Given the description of an element on the screen output the (x, y) to click on. 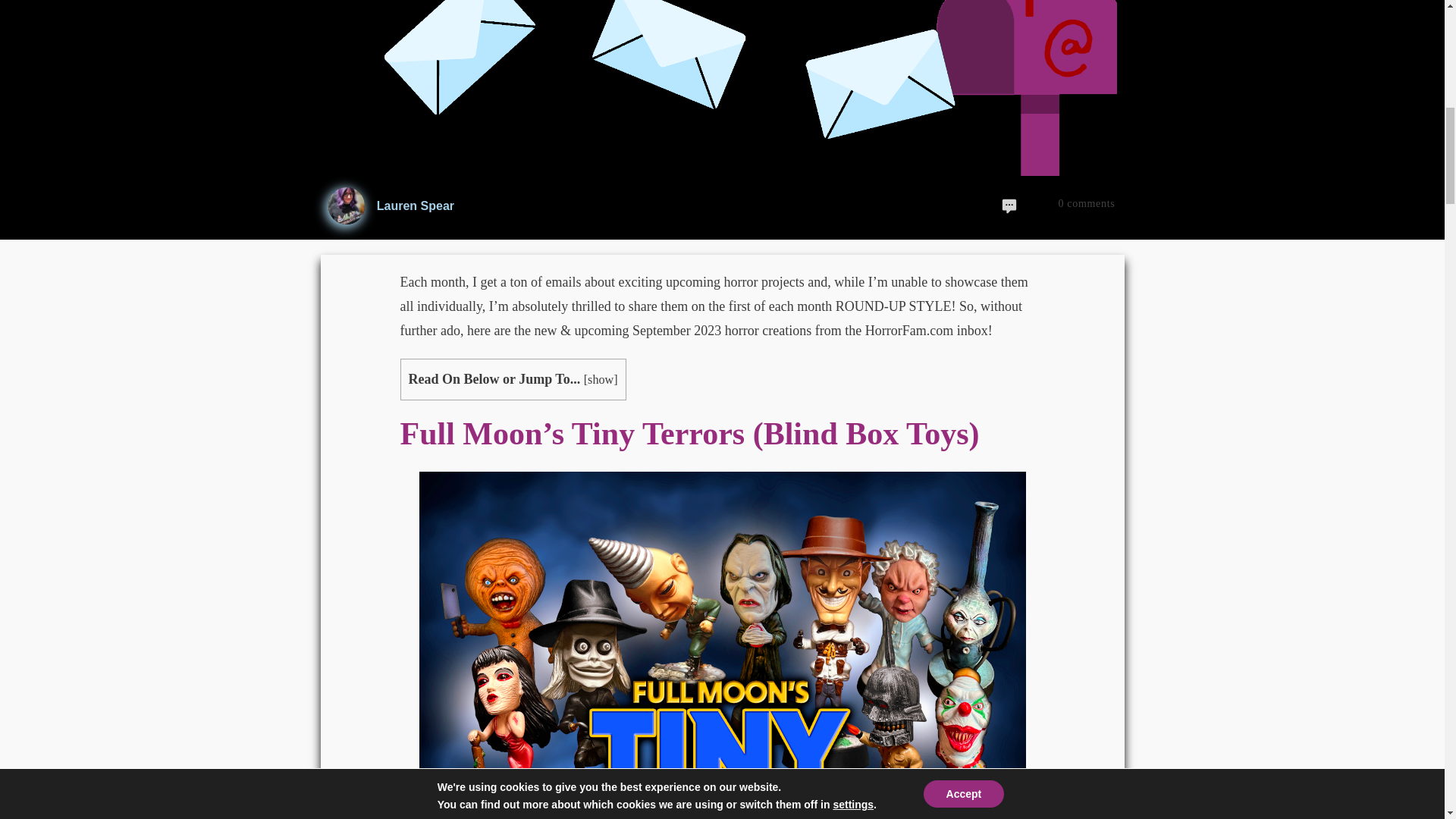
show (600, 379)
Featured Image Narrow Content (345, 205)
the HorrorFam.com inbox (915, 330)
